Given the description of an element on the screen output the (x, y) to click on. 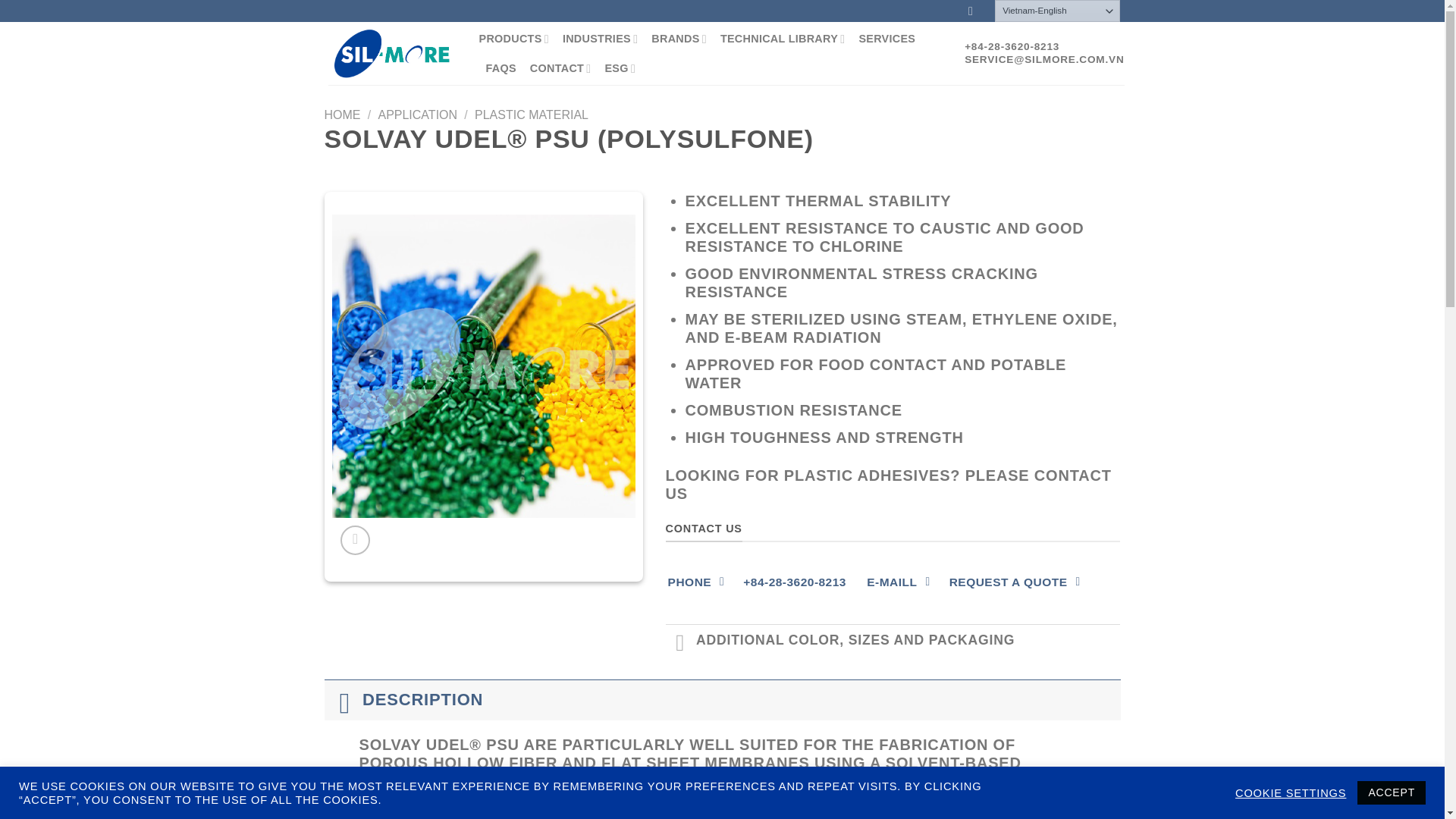
BRANDS (678, 39)
FAQS (499, 67)
TECHNICAL LIBRARY (782, 39)
Zoom (354, 540)
INDUSTRIES (599, 39)
SERVICES (887, 38)
PRODUCTS (513, 39)
CONTACT (560, 68)
